Given the description of an element on the screen output the (x, y) to click on. 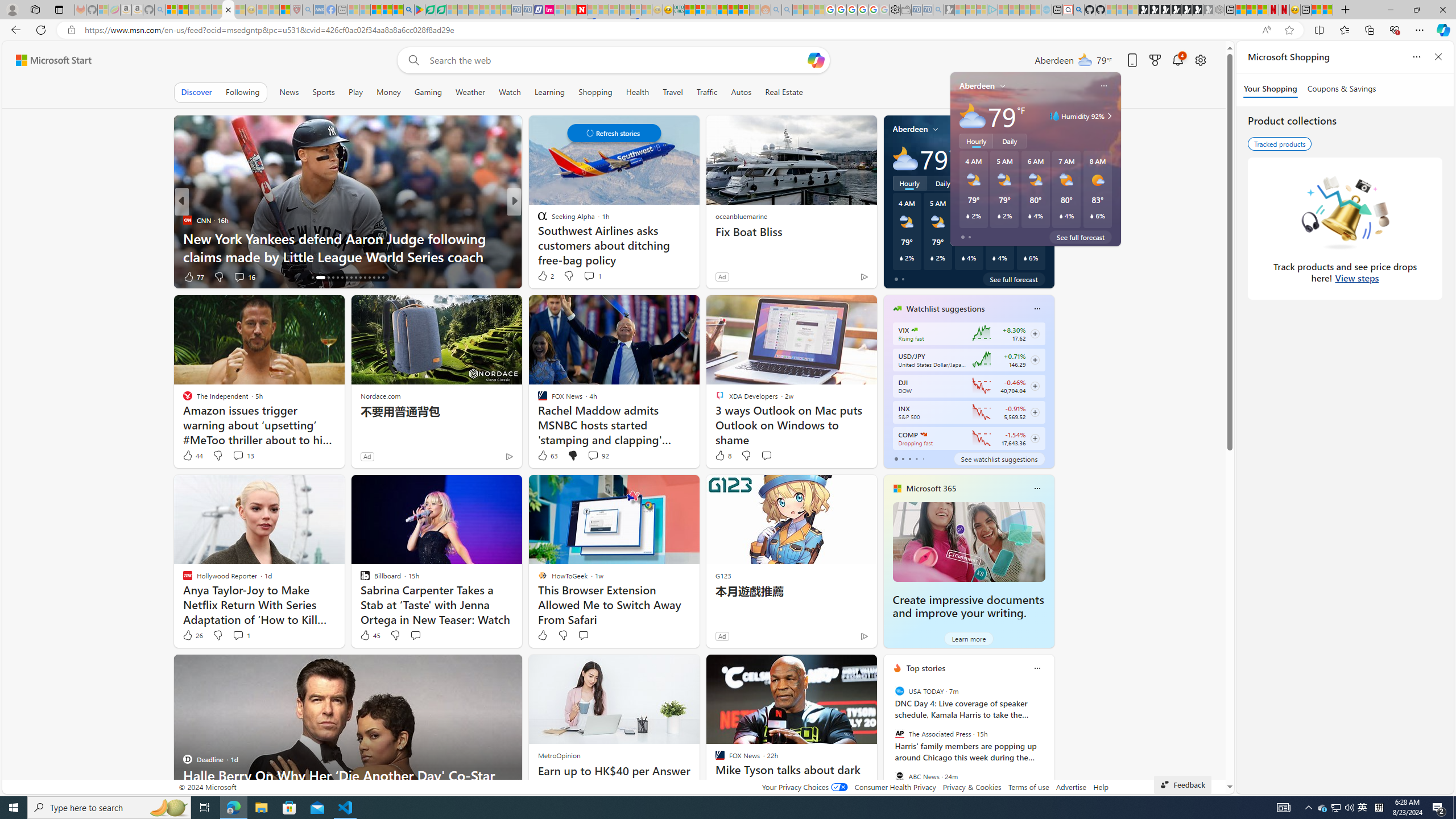
oceanbluemarine (740, 215)
View comments 25 Comment (589, 276)
Class: weather-arrow-glyph (1043, 158)
Fix Boat Bliss (790, 232)
